Given the description of an element on the screen output the (x, y) to click on. 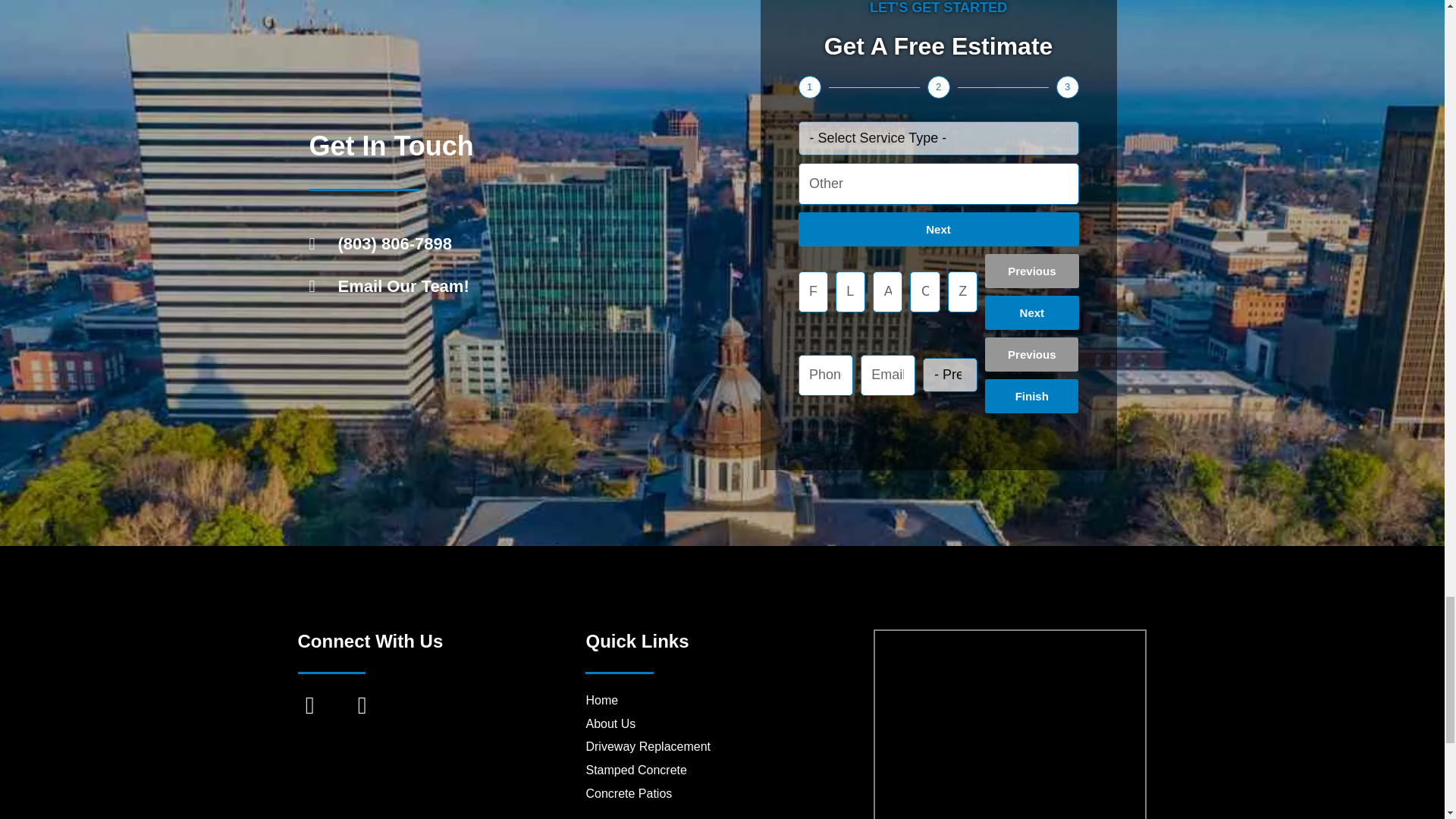
Next (937, 229)
Previous (1031, 270)
Columbia, South Carolina (1009, 724)
